Given the description of an element on the screen output the (x, y) to click on. 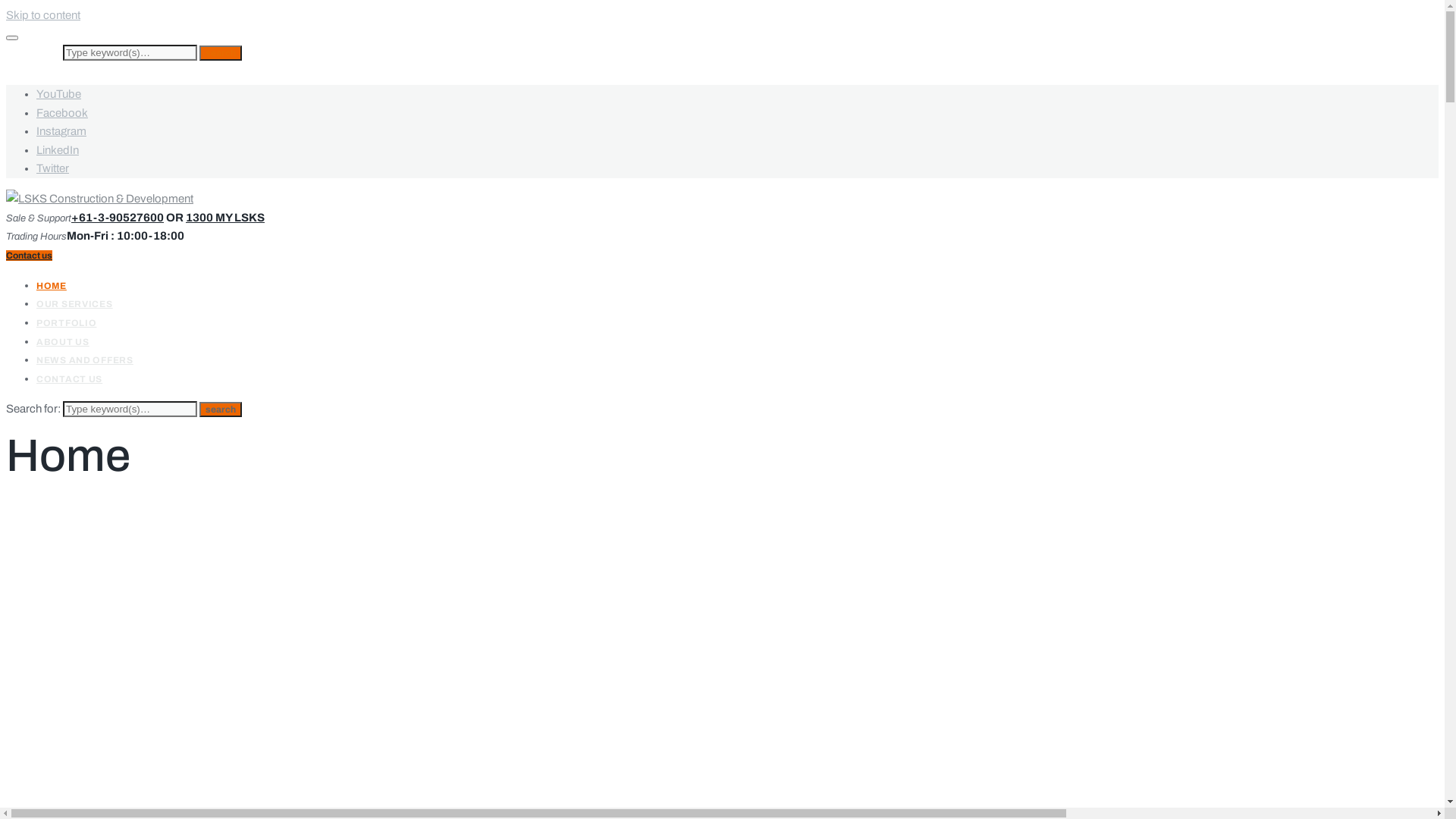
search Element type: text (220, 52)
HOME Element type: text (51, 285)
ABOUT US Element type: text (62, 341)
+61-3-90527600 Element type: text (117, 217)
Twitter Element type: text (52, 168)
CONTACT US Element type: text (69, 378)
Facebook Element type: text (61, 112)
search Element type: text (220, 409)
LinkedIn Element type: text (57, 150)
PORTFOLIO Element type: text (66, 322)
Instagram Element type: text (61, 131)
Contact us Element type: text (29, 255)
YouTube Element type: text (58, 93)
1300 MY LSKS Element type: text (224, 217)
OUR SERVICES Element type: text (74, 303)
NEWS AND OFFERS Element type: text (84, 359)
Skip to content Element type: text (43, 15)
